Given the description of an element on the screen output the (x, y) to click on. 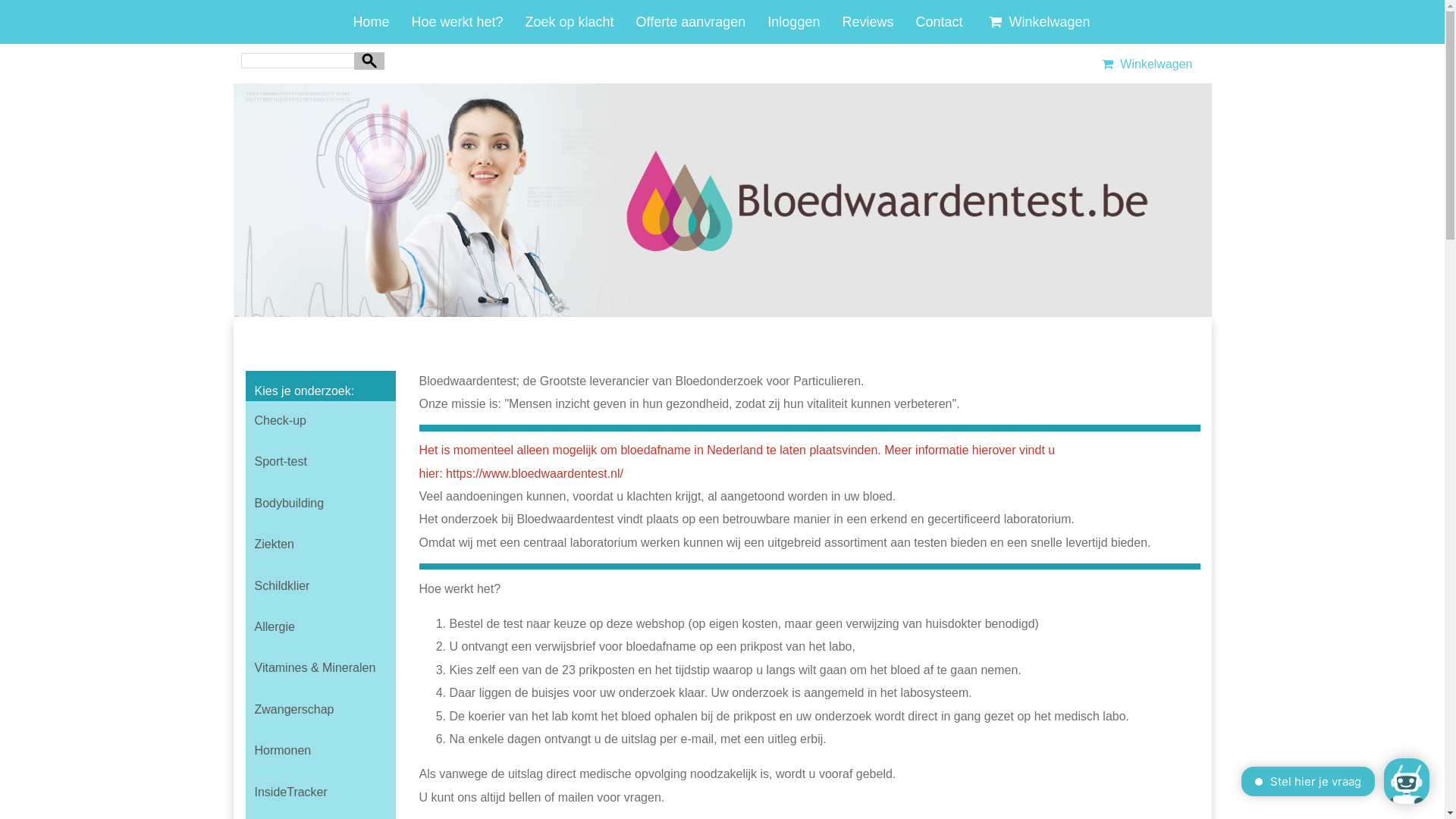
Winkelwagen Element type: text (1145, 63)
InsideTracker Element type: text (320, 791)
Vitamines & Mineralen Element type: text (320, 667)
Reviews Element type: text (867, 21)
Schildklier Element type: text (320, 585)
Zwangerschap Element type: text (320, 709)
Home Element type: text (370, 21)
Zoeken Element type: text (369, 60)
Allergie Element type: text (320, 626)
Check-up Element type: text (320, 420)
headerlogogrootbejpg Element type: hover (722, 199)
Hoe werkt het? Element type: text (456, 21)
Offerte aanvragen Element type: text (691, 21)
Bodybuilding Element type: text (320, 503)
Zoek op klacht Element type: text (568, 21)
trengo-widget-status Element type: hover (1269, 782)
Contact Element type: text (938, 21)
Hormonen Element type: text (320, 750)
trengo-widget-launcher Element type: hover (1406, 780)
Inloggen Element type: text (793, 21)
Ziekten Element type: text (320, 544)
Sport-test Element type: text (320, 461)
Winkelwagen Element type: text (1037, 21)
